Given the description of an element on the screen output the (x, y) to click on. 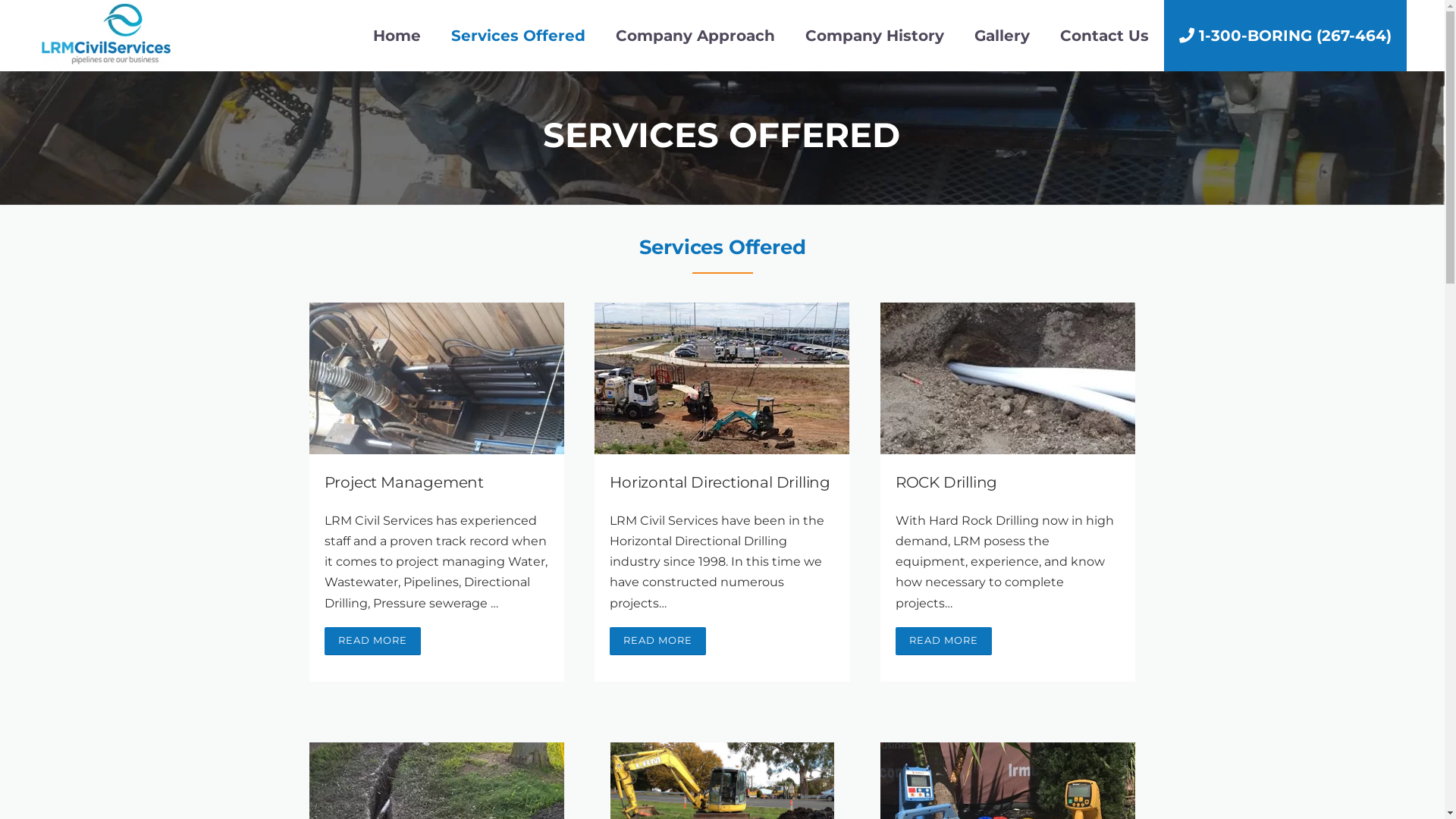
READ MORE Element type: text (657, 641)
Company Approach Element type: text (695, 35)
Services Offered Element type: text (518, 35)
Home Element type: text (396, 35)
LRM Civil Services Element type: hover (105, 32)
Company History Element type: text (874, 35)
Contact Us Element type: text (1104, 35)
Gallery Element type: text (1001, 35)
READ MORE Element type: text (943, 641)
READ MORE Element type: text (372, 641)
1-300-BORING (267-464) Element type: text (1285, 35)
